Given the description of an element on the screen output the (x, y) to click on. 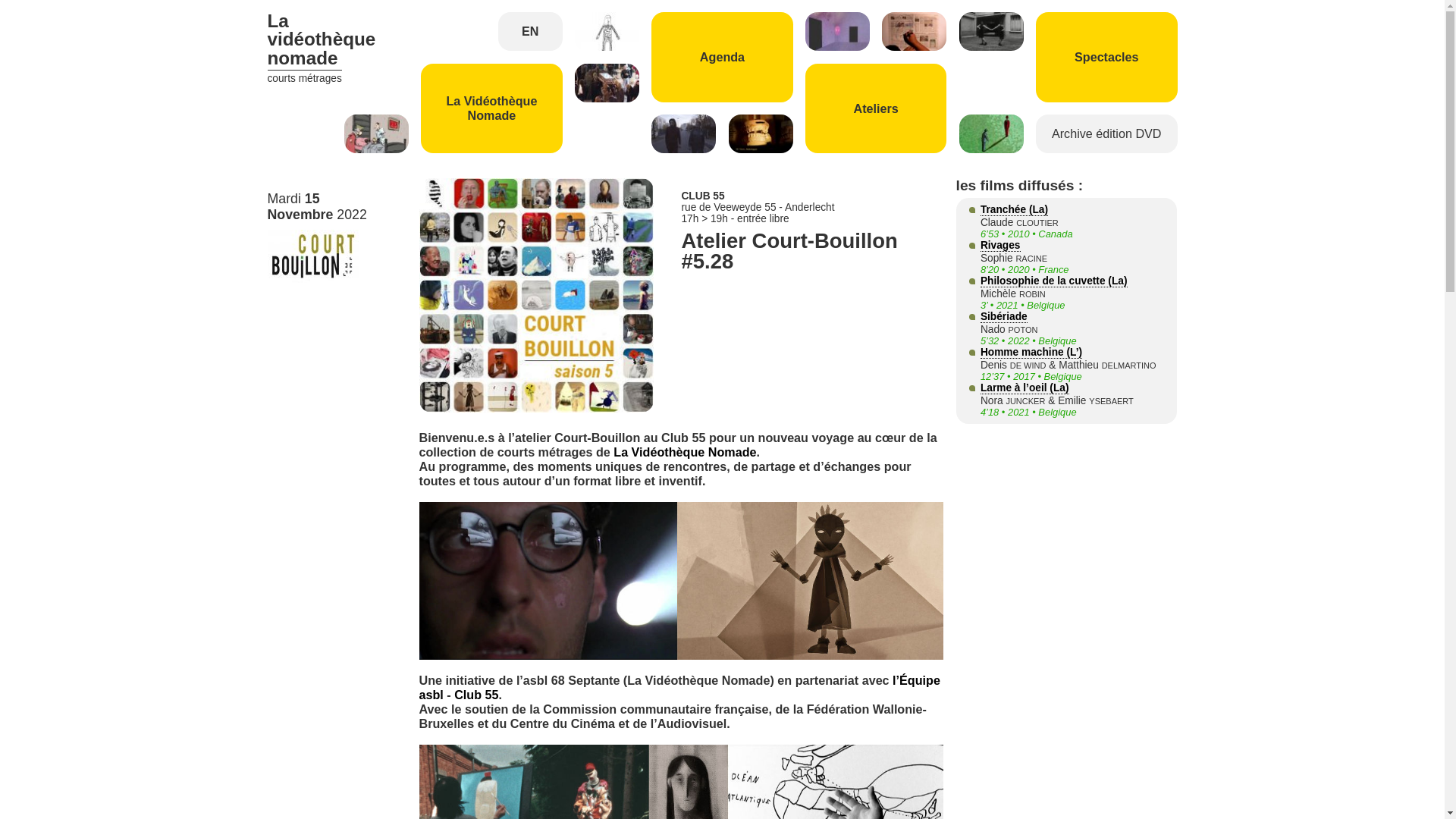
Agenda Element type: text (722, 57)
Ateliers Element type: text (876, 108)
Club 55 Element type: text (476, 694)
Rivages Element type: text (1000, 245)
EN Element type: text (530, 31)
Spectacles Element type: text (1106, 57)
Philosophie de la cuvette (La) Element type: text (1053, 281)
